Given the description of an element on the screen output the (x, y) to click on. 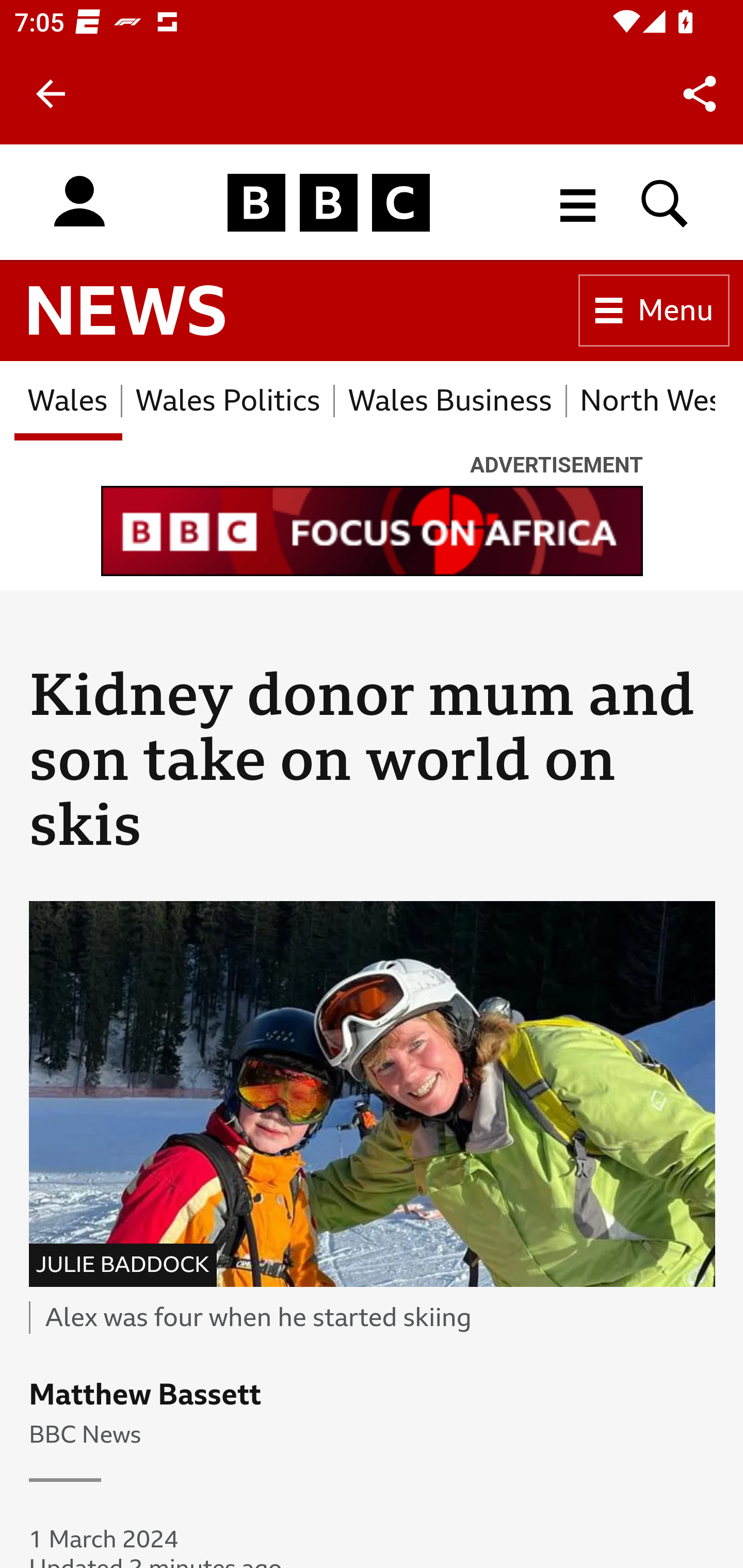
Back (50, 93)
Share (699, 93)
Sign in (79, 202)
BBC Homepage (329, 202)
More menu (578, 202)
Search BBC (665, 202)
BBC News (126, 311)
Menu (654, 311)
Wales (68, 400)
Wales Politics (227, 400)
Wales Business (449, 400)
North West (640, 400)
